Given the description of an element on the screen output the (x, y) to click on. 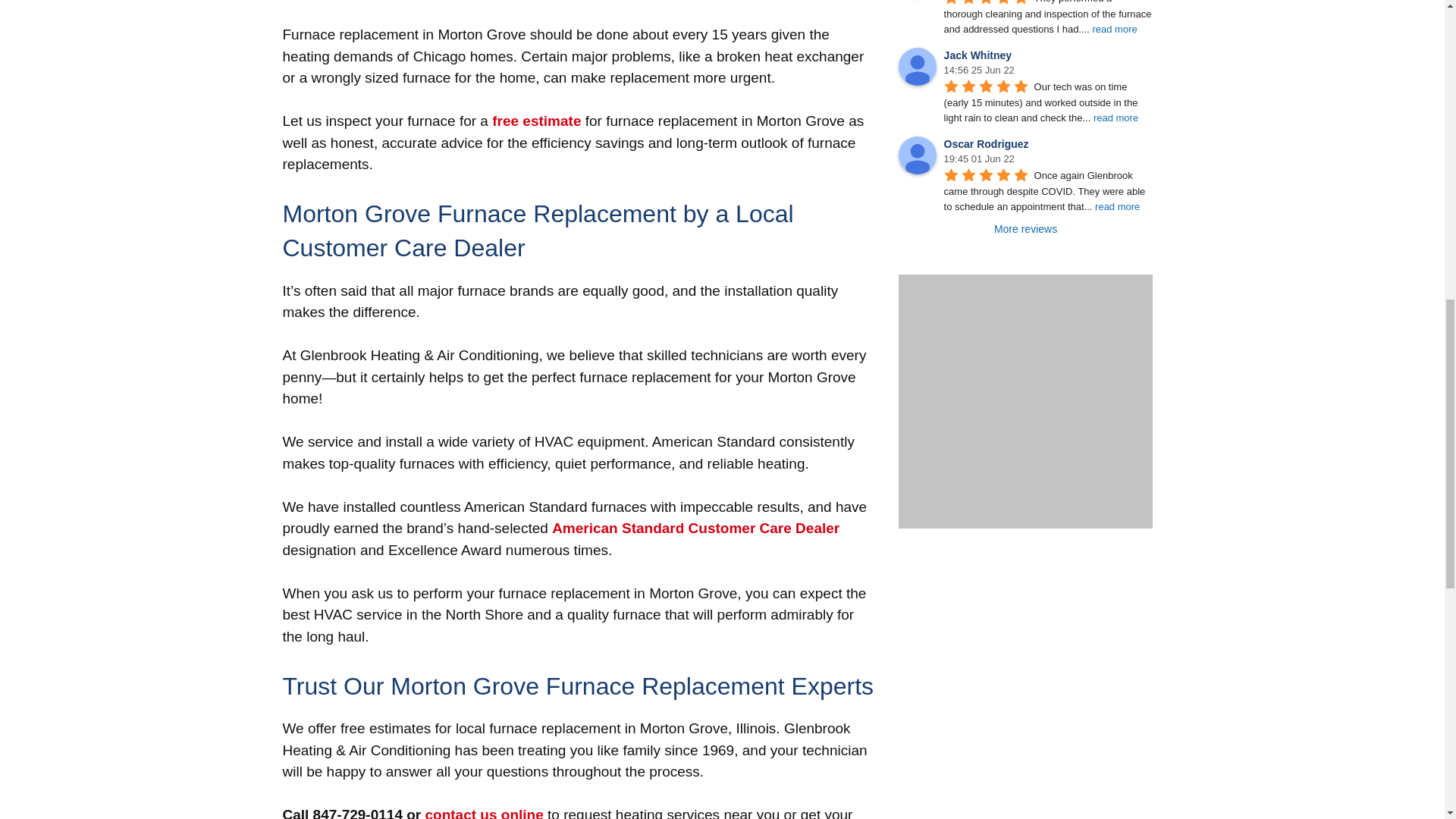
coupon-1 (1025, 401)
Jack Whitney (917, 66)
Oscar Rodriguez (917, 155)
